Given the description of an element on the screen output the (x, y) to click on. 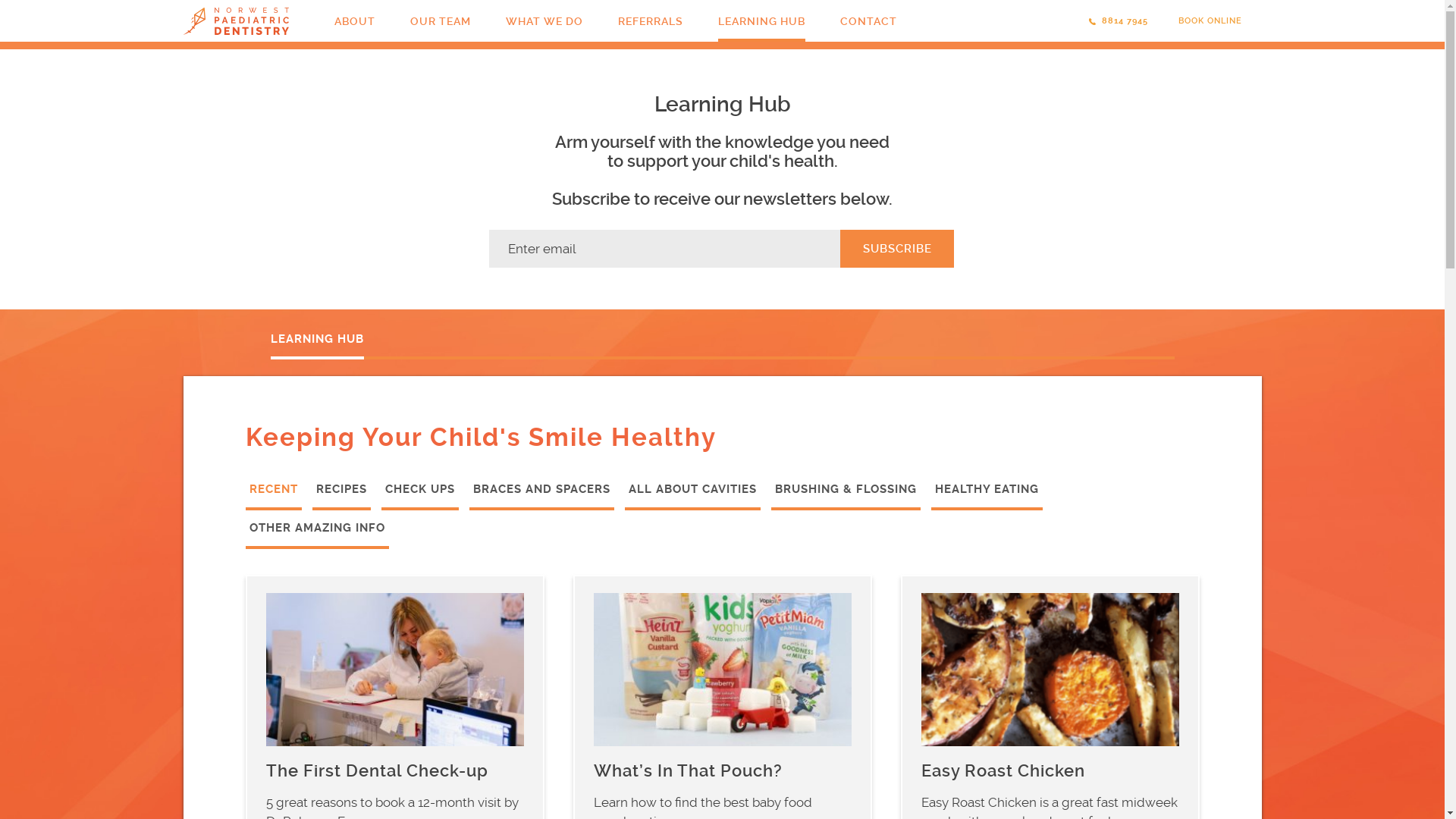
OTHER AMAZING INFO Element type: text (317, 534)
CHECK UPS Element type: text (419, 496)
OUR TEAM Element type: text (439, 21)
BRUSHING & FLOSSING Element type: text (844, 496)
RECENT Element type: text (273, 496)
ABOUT Element type: text (353, 21)
WHAT WE DO Element type: text (543, 21)
CONTACT Element type: text (868, 21)
REFERRALS Element type: text (649, 21)
8814 7945 Element type: text (1107, 20)
BRACES AND SPACERS Element type: text (540, 496)
ALL ABOUT CAVITIES Element type: text (692, 496)
BOOK ONLINE Element type: text (1210, 20)
SUBSCRIBE Element type: text (896, 248)
HEALTHY EATING Element type: text (986, 496)
LEARNING HUB Element type: text (760, 21)
RECIPES Element type: text (341, 496)
